Given the description of an element on the screen output the (x, y) to click on. 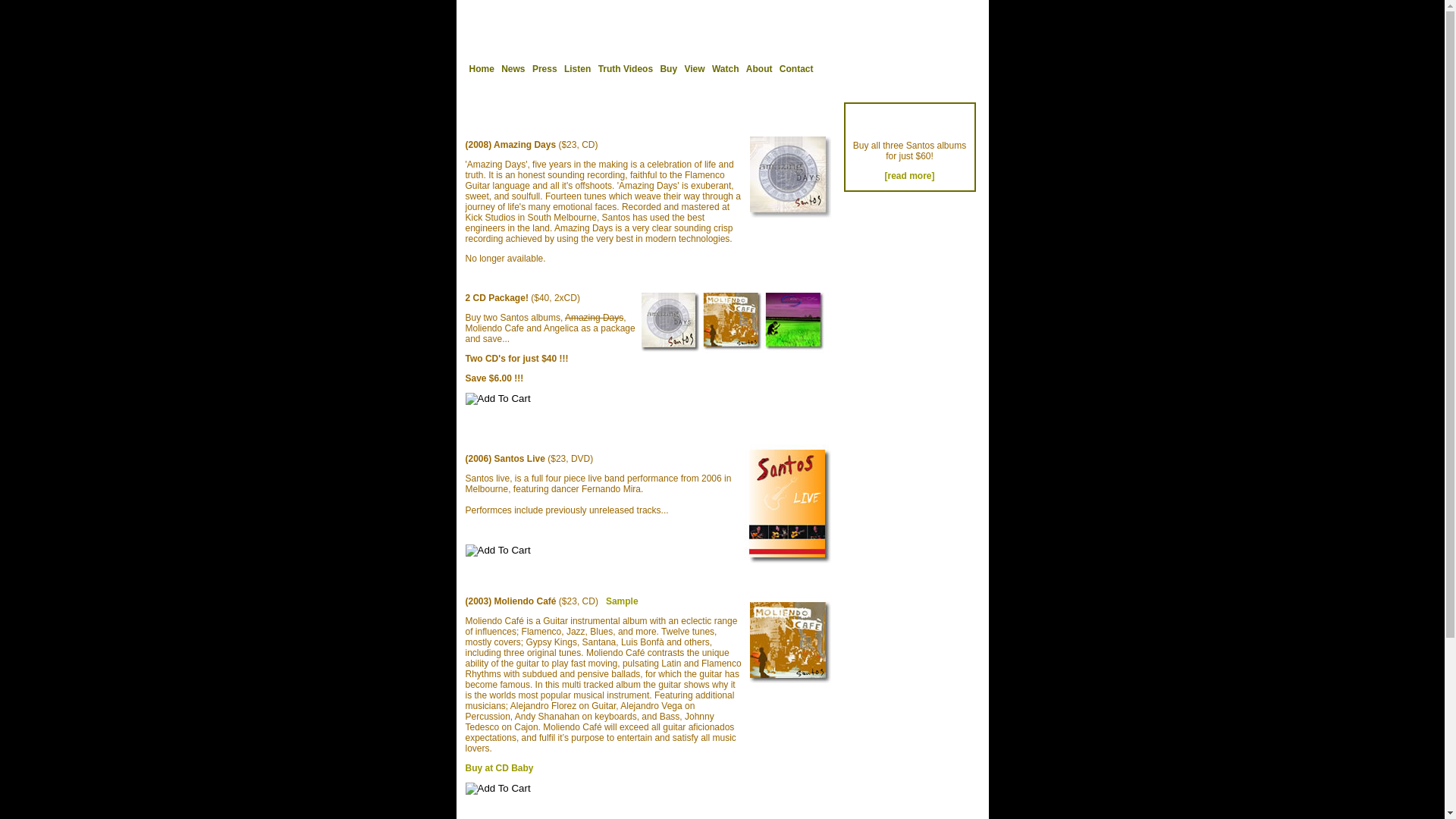
News Element type: text (512, 68)
Add To Cart Element type: hover (497, 550)
Buy at CD Baby Element type: text (499, 767)
Add To Cart Element type: hover (497, 788)
Watch Element type: text (725, 68)
Add To Cart Element type: hover (497, 398)
About Element type: text (759, 68)
Truth Videos Element type: text (625, 68)
Sample Element type: text (621, 601)
Buy Element type: text (668, 68)
Home Element type: text (480, 68)
[read more] Element type: text (909, 175)
View Element type: text (694, 68)
Listen Element type: text (577, 68)
Press Element type: text (544, 68)
Contact Element type: text (796, 68)
